Given the description of an element on the screen output the (x, y) to click on. 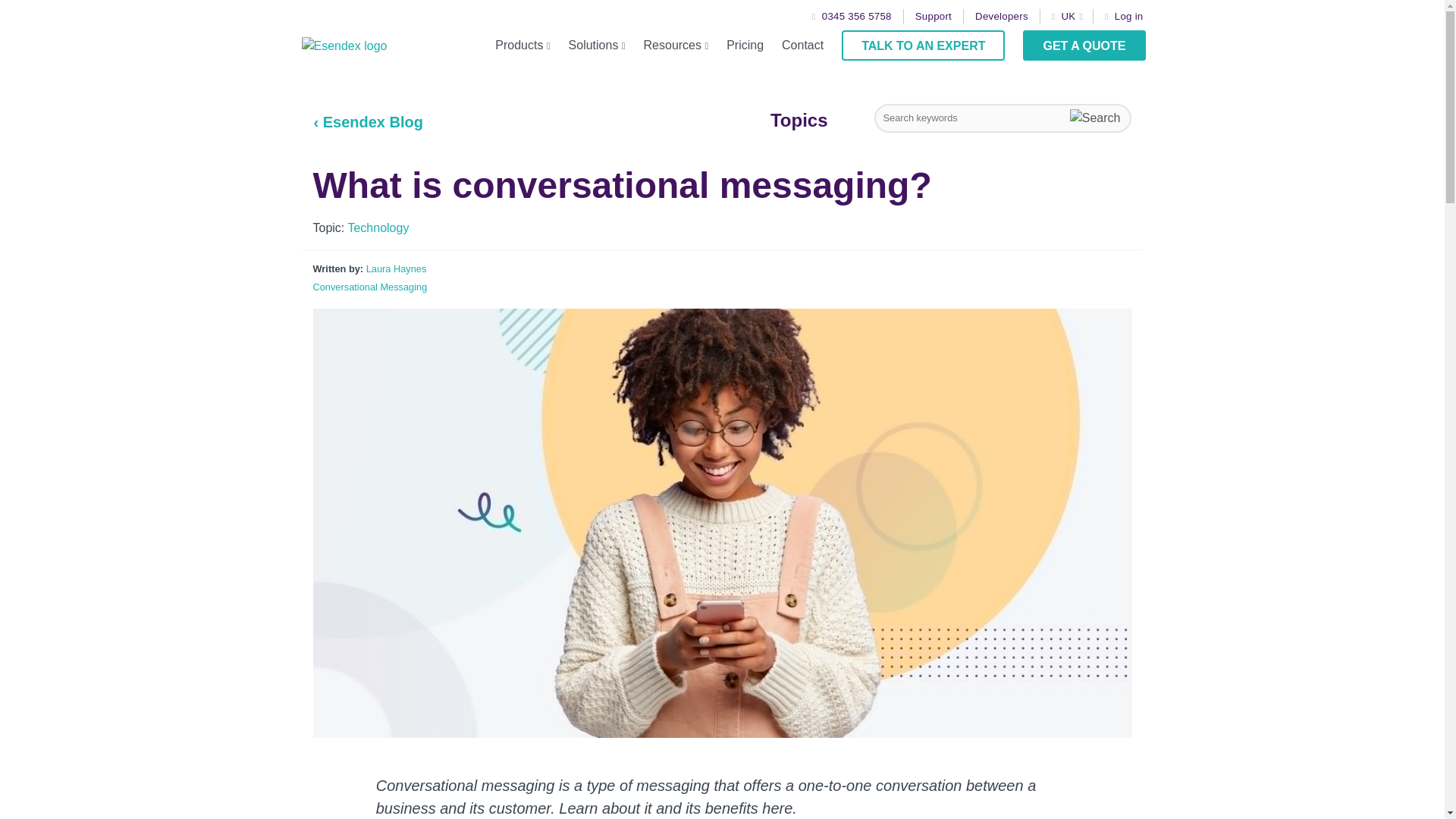
Support (933, 16)
0345 356 5758 (851, 16)
Log in (1123, 16)
Posts by Laura Haynes (396, 268)
UK (1070, 16)
Developers (1001, 16)
